Given the description of an element on the screen output the (x, y) to click on. 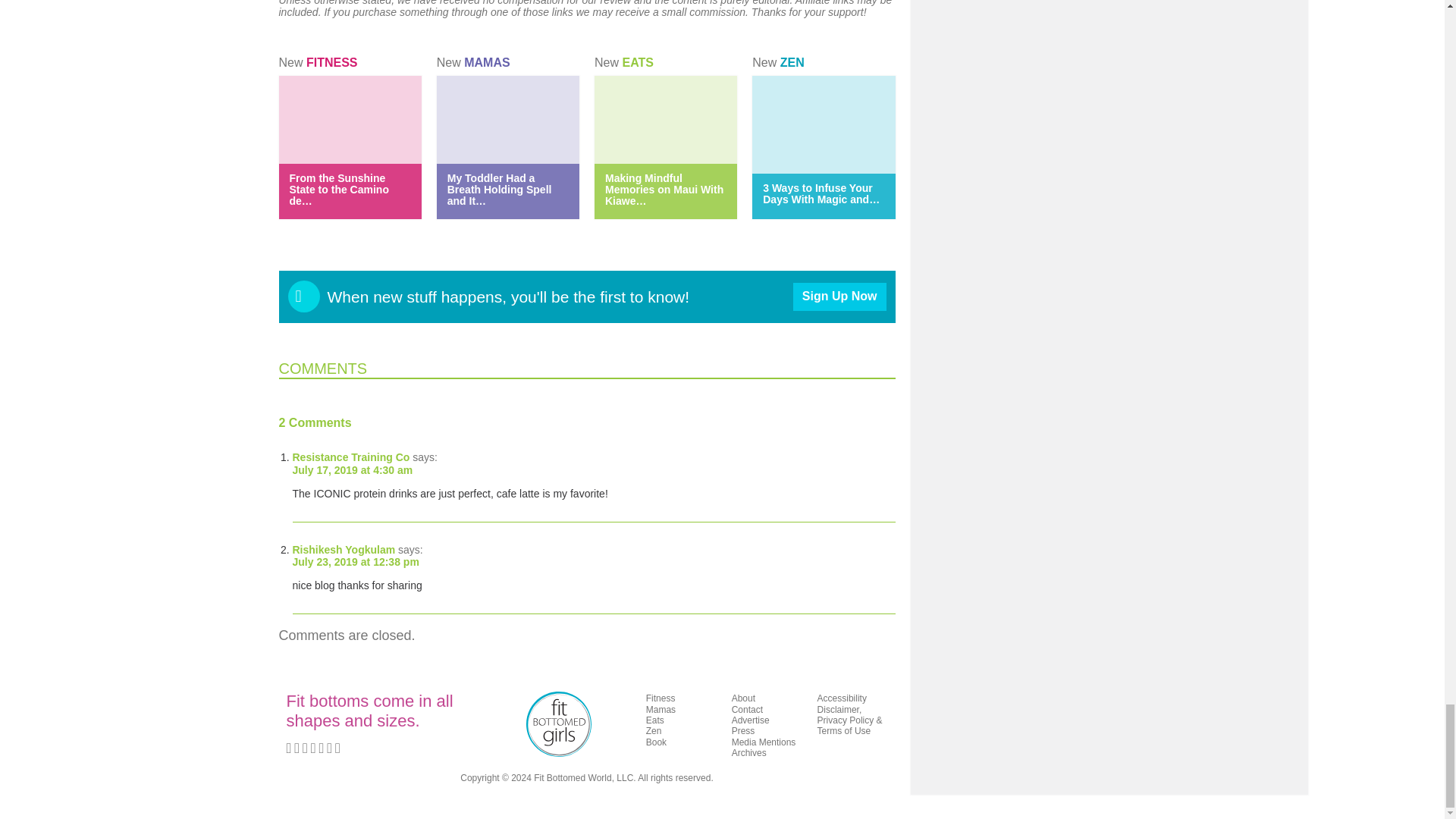
From the Sunshine State to the Camino de Santiago (338, 189)
Making Mindful Memories on Maui With Kiawe Outdoor (664, 189)
3 Ways to Infuse Your Days With Magic and Meaning (820, 193)
My Toddler Had a Breath Holding Spell and It Was Scary AF (498, 189)
